Given the description of an element on the screen output the (x, y) to click on. 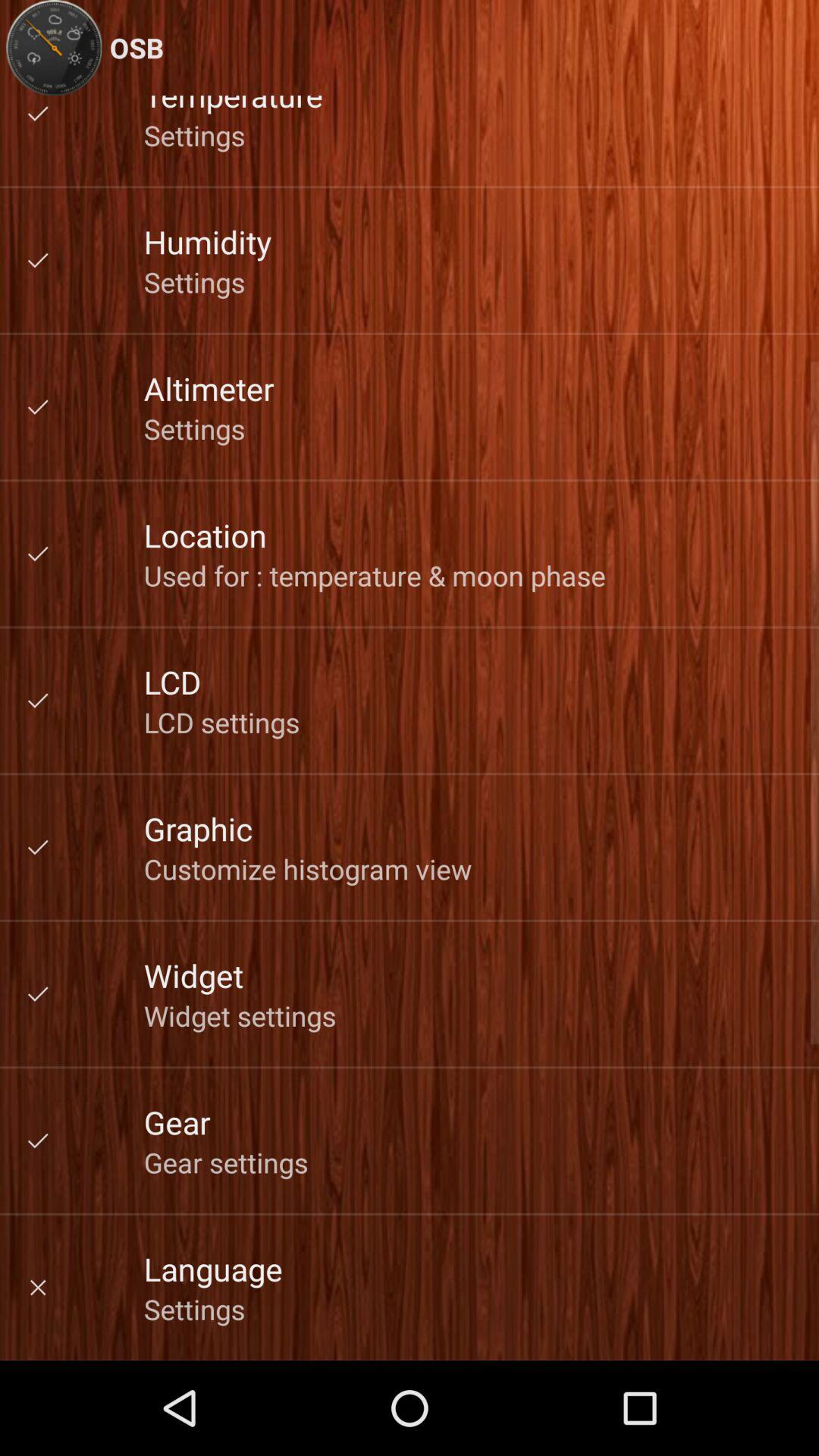
select app above the customize histogram view (197, 828)
